Given the description of an element on the screen output the (x, y) to click on. 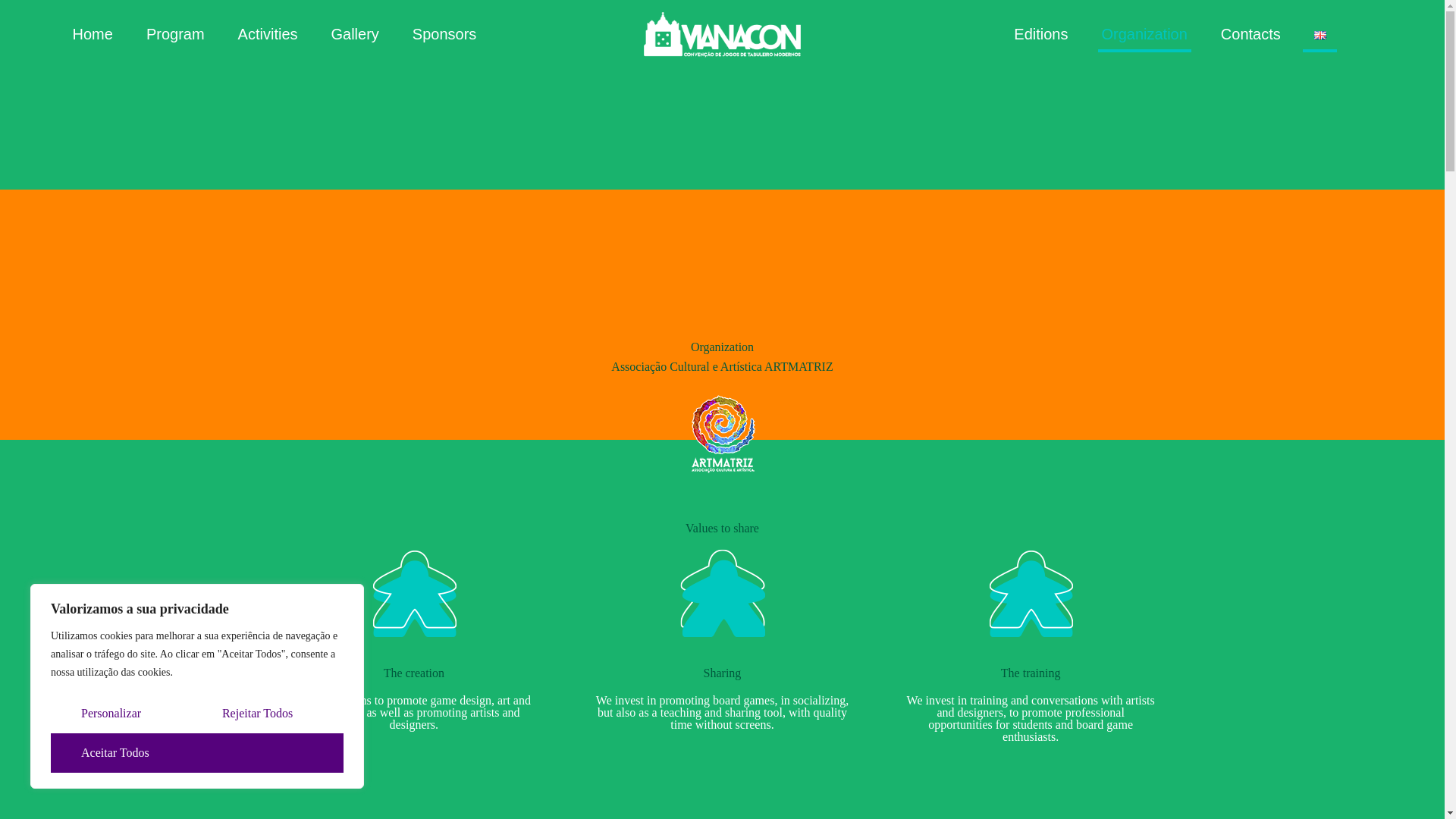
Home (93, 33)
Activities (267, 33)
ARTMATRIZ (798, 366)
Gallery (354, 33)
Editions (1040, 33)
Program (175, 33)
Sponsors (444, 33)
Organization (1144, 33)
Vianacon (721, 33)
Rejeitar Todos (264, 713)
Personalizar (118, 713)
Aceitar Todos (196, 753)
Contacts (1250, 33)
